Given the description of an element on the screen output the (x, y) to click on. 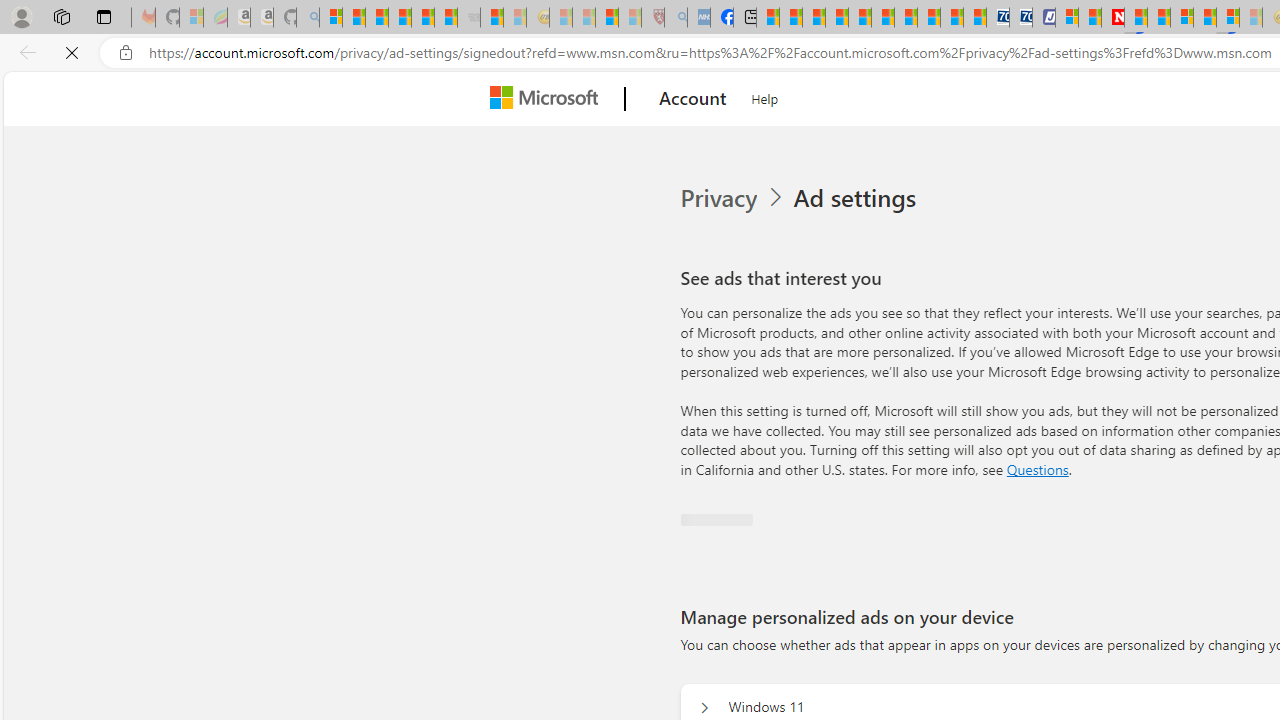
Ad settings (853, 197)
Manage personalized ads on your device Windows 11 (702, 708)
New Report Confirms 2023 Was Record Hot | Watch (422, 17)
